Given the description of an element on the screen output the (x, y) to click on. 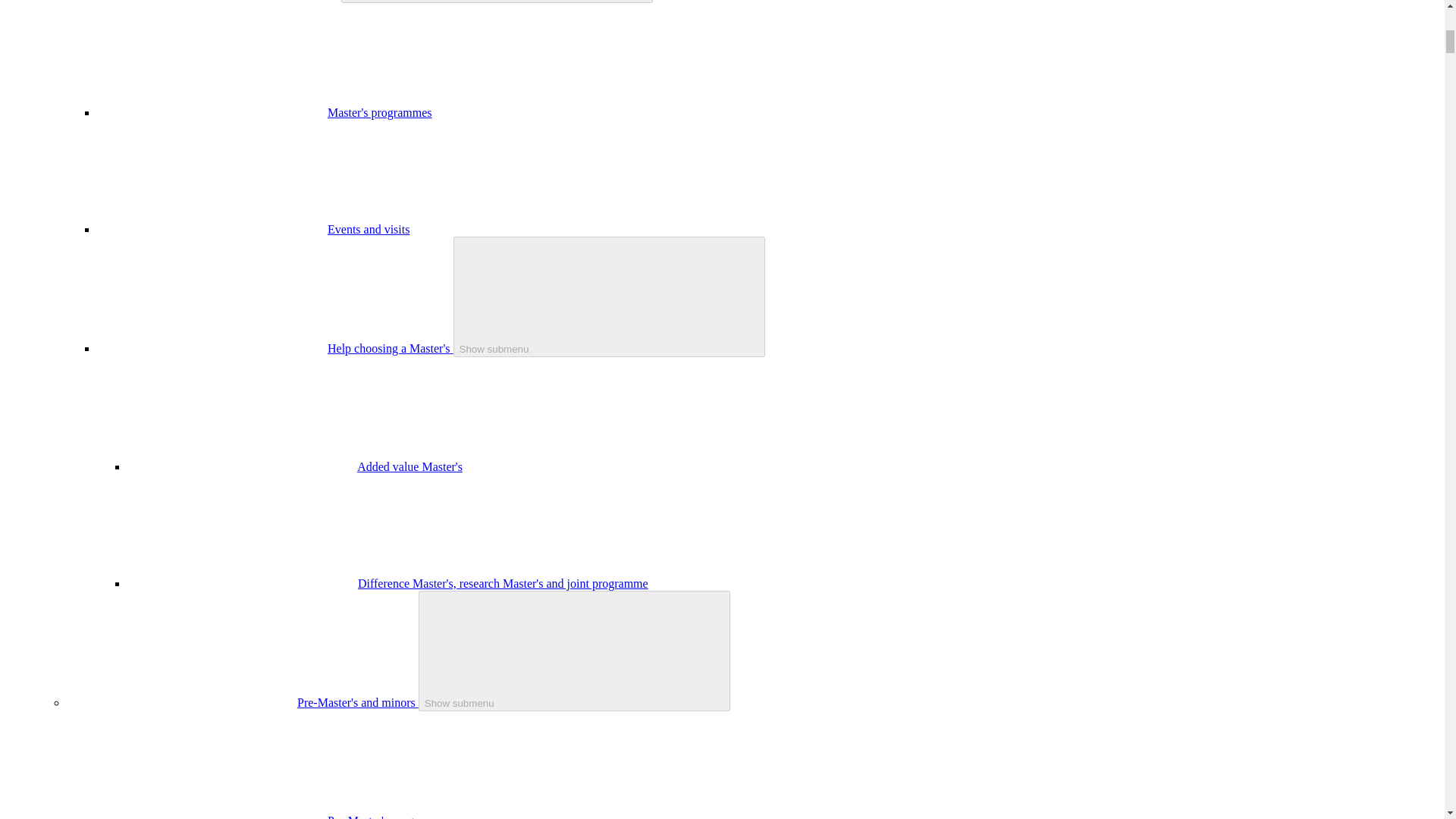
Added value Master's (409, 466)
Difference Master's, research Master's and joint programme (502, 583)
Master's (318, 0)
Events and visits (368, 228)
Master's programmes (379, 112)
Show submenu (608, 296)
Show submenu (574, 650)
Help choosing a Master's (389, 348)
Pre-Master's programmes (389, 816)
Pre-Master's and minors (358, 702)
